Given the description of an element on the screen output the (x, y) to click on. 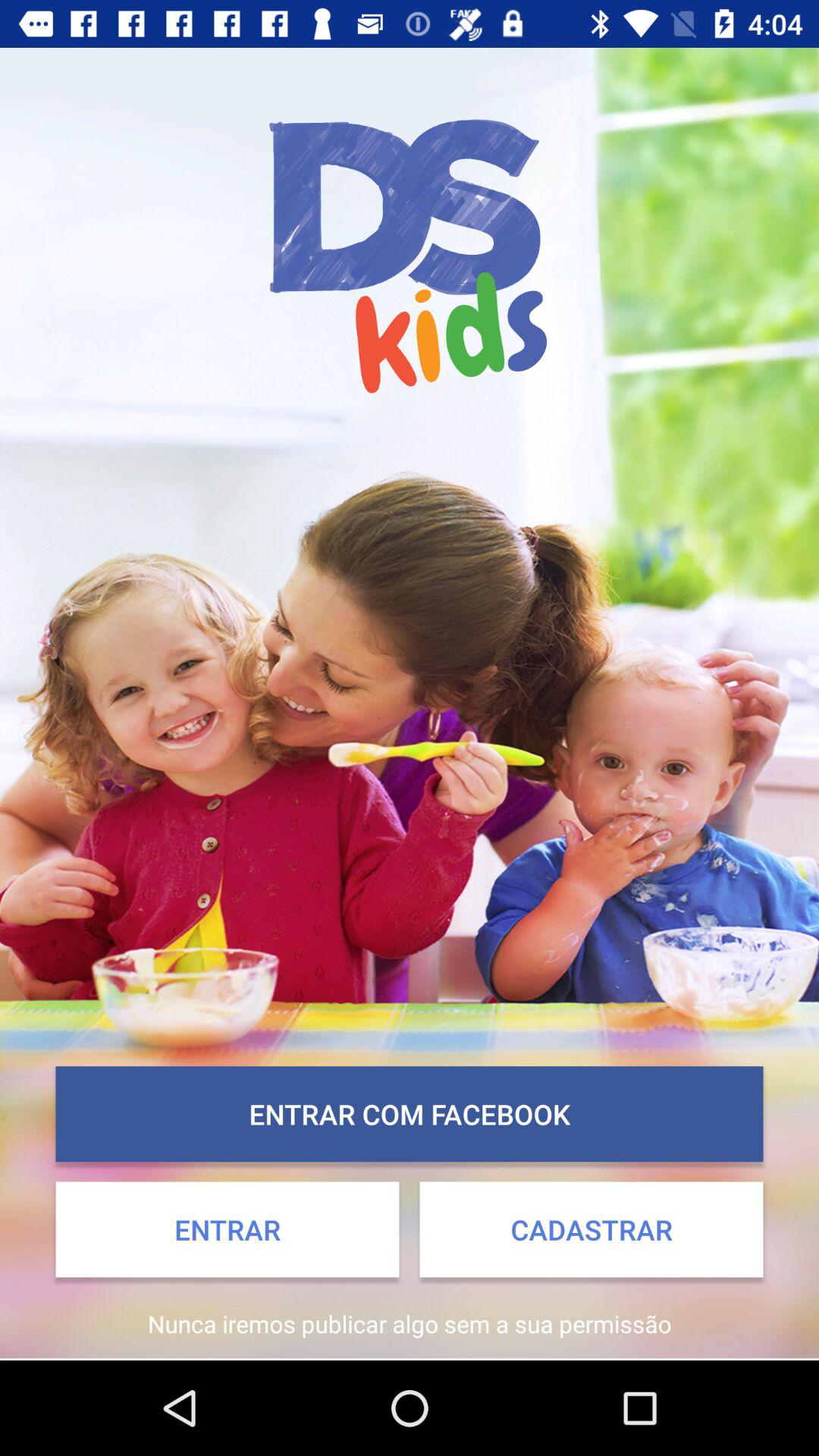
jump until the cadastrar item (591, 1229)
